Given the description of an element on the screen output the (x, y) to click on. 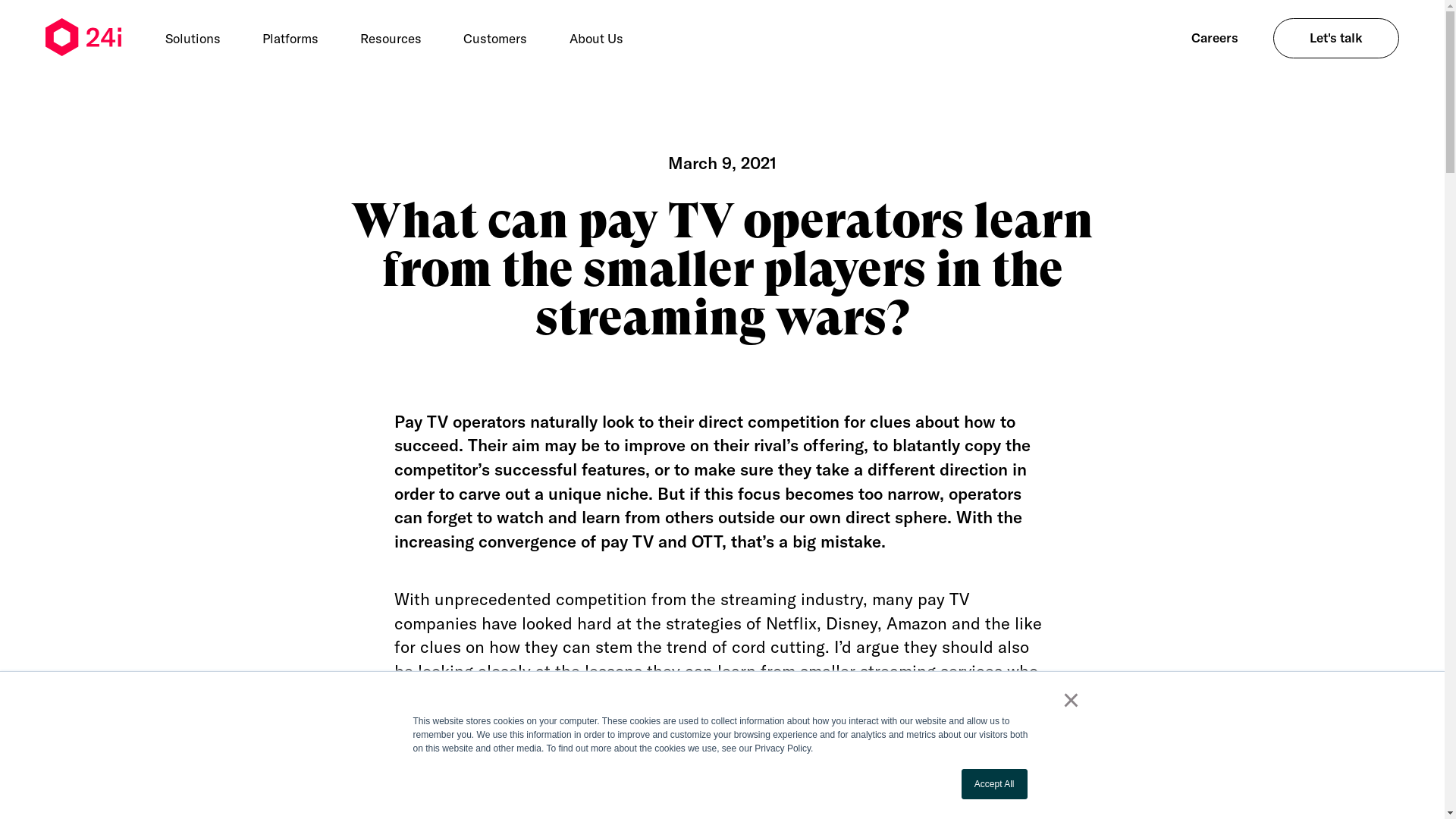
About Us Element type: text (595, 37)
Customers Element type: text (495, 37)
Careers Element type: text (1214, 37)
Let's talk Element type: text (1336, 38)
Accept All Element type: text (994, 783)
